Given the description of an element on the screen output the (x, y) to click on. 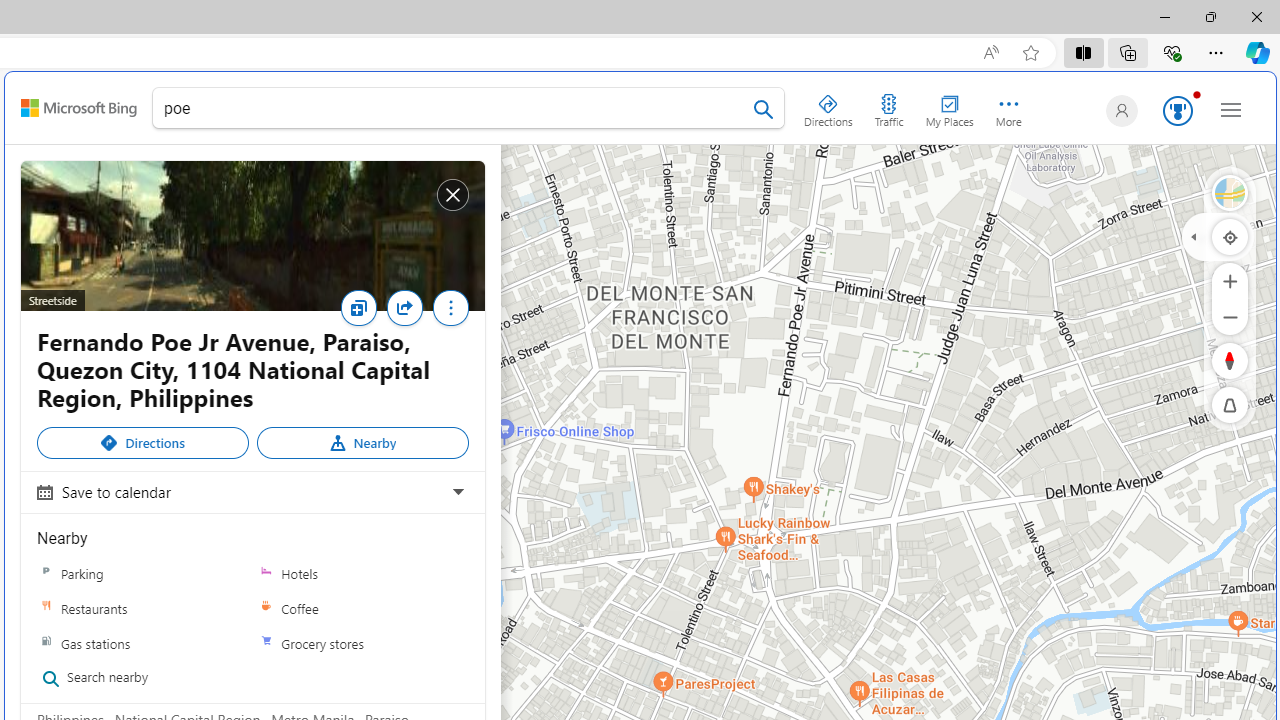
Microsoft Rewards 123 (1174, 111)
Zoom Out (1230, 316)
Save to calendar (250, 491)
Traffic (888, 106)
Hotels (266, 573)
Search nearby (136, 678)
My Places (949, 106)
AutomationID: rh_meter (1178, 110)
Satellite (1230, 192)
More (450, 308)
Class: sbElement (79, 107)
Rotate Right (1210, 360)
Select Style (1230, 192)
